Given the description of an element on the screen output the (x, y) to click on. 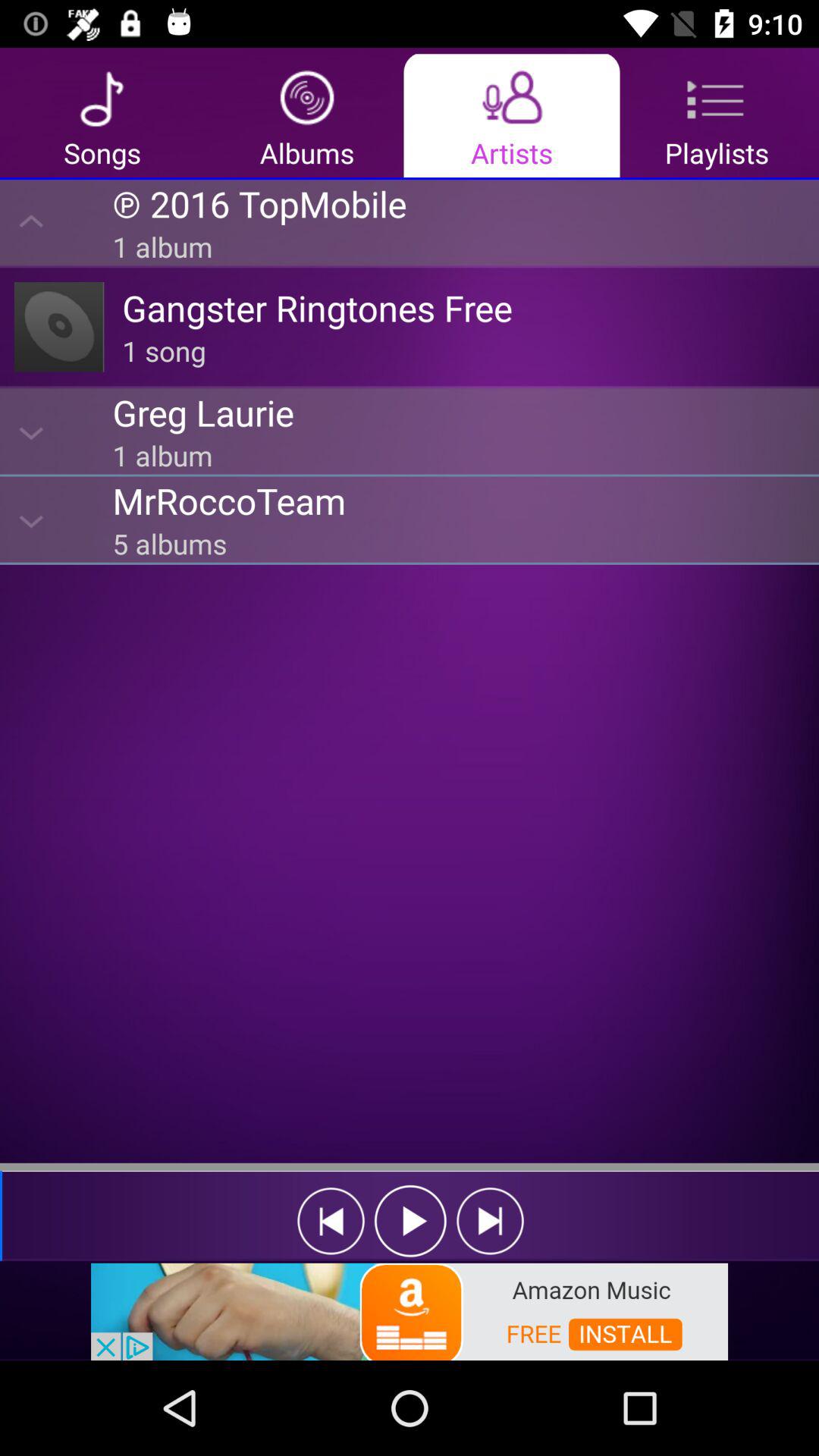
click on albums option at top (307, 114)
click button before play icon (331, 1220)
select the play button in bottom of the page (410, 1220)
sekect the forward icon beside the play icon (489, 1220)
